Given the description of an element on the screen output the (x, y) to click on. 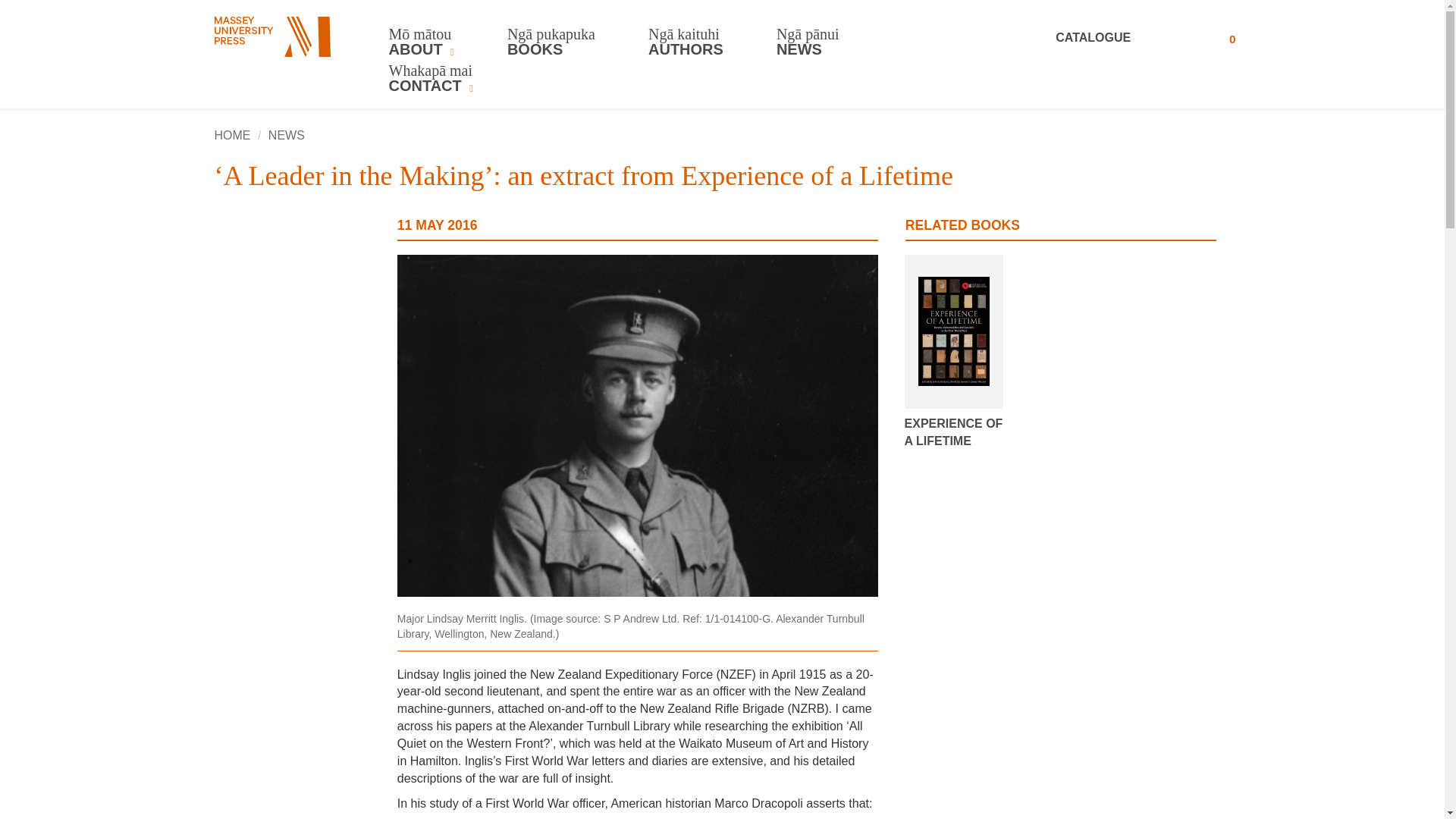
NEWS (285, 134)
0 (1215, 38)
HOME (232, 134)
CATALOGUE   (1113, 37)
